Given the description of an element on the screen output the (x, y) to click on. 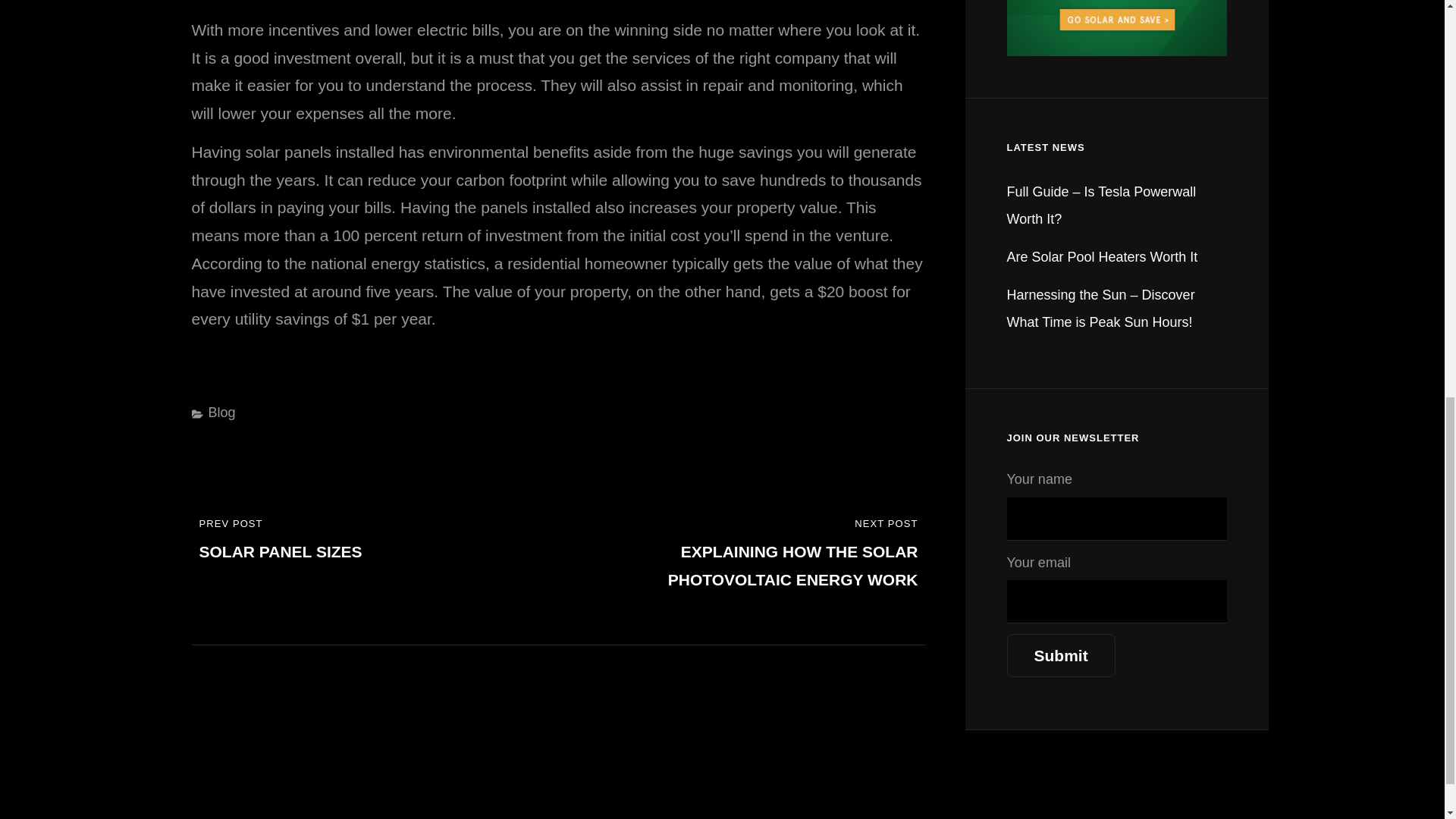
Submit (366, 540)
Submit (1061, 655)
Blog (1061, 655)
Are Solar Pool Heaters Worth It (221, 412)
